Given the description of an element on the screen output the (x, y) to click on. 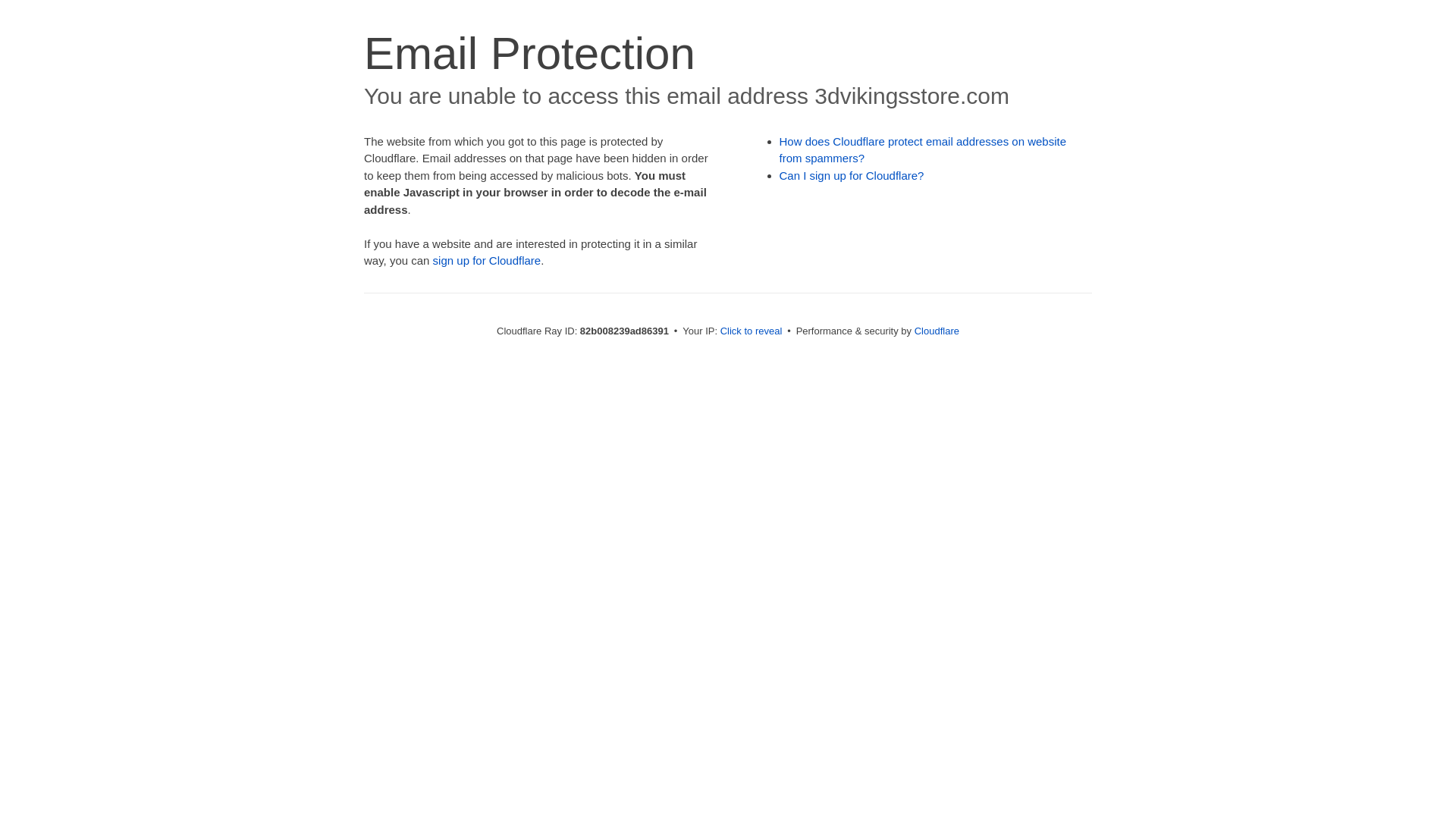
Cloudflare Element type: text (936, 330)
Can I sign up for Cloudflare? Element type: text (851, 175)
sign up for Cloudflare Element type: text (487, 260)
Click to reveal Element type: text (751, 330)
